Given the description of an element on the screen output the (x, y) to click on. 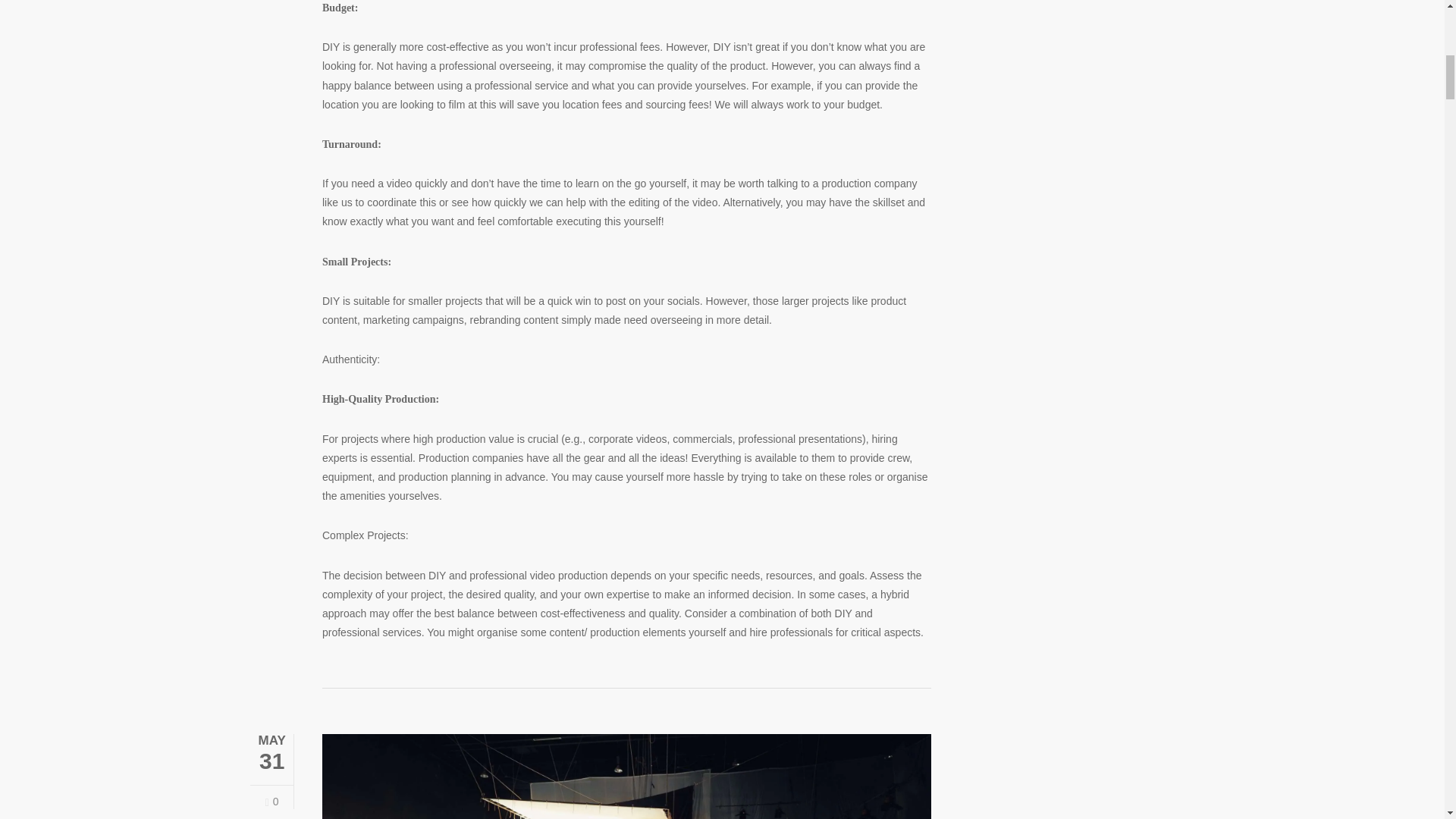
0 (271, 801)
Love this (271, 801)
